Given the description of an element on the screen output the (x, y) to click on. 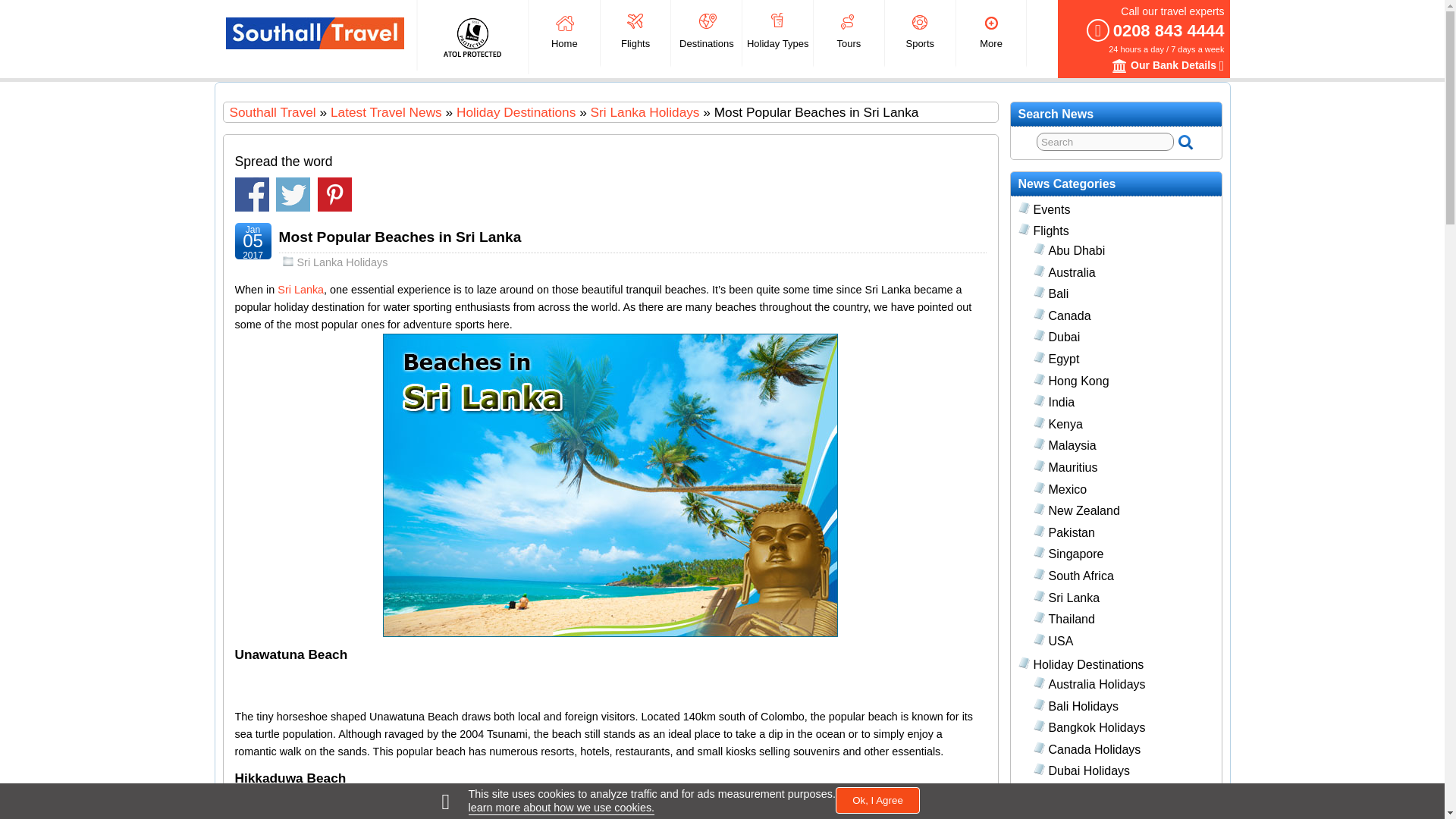
Southall Travel (314, 33)
Sports (920, 32)
Tours (848, 32)
Sri Lanka Holidays (645, 111)
www.southalltravel.co.uk (271, 111)
Holiday Types (777, 32)
Flights (635, 32)
Search (1104, 141)
More (991, 32)
Our Bank Details (1118, 65)
